Given the description of an element on the screen output the (x, y) to click on. 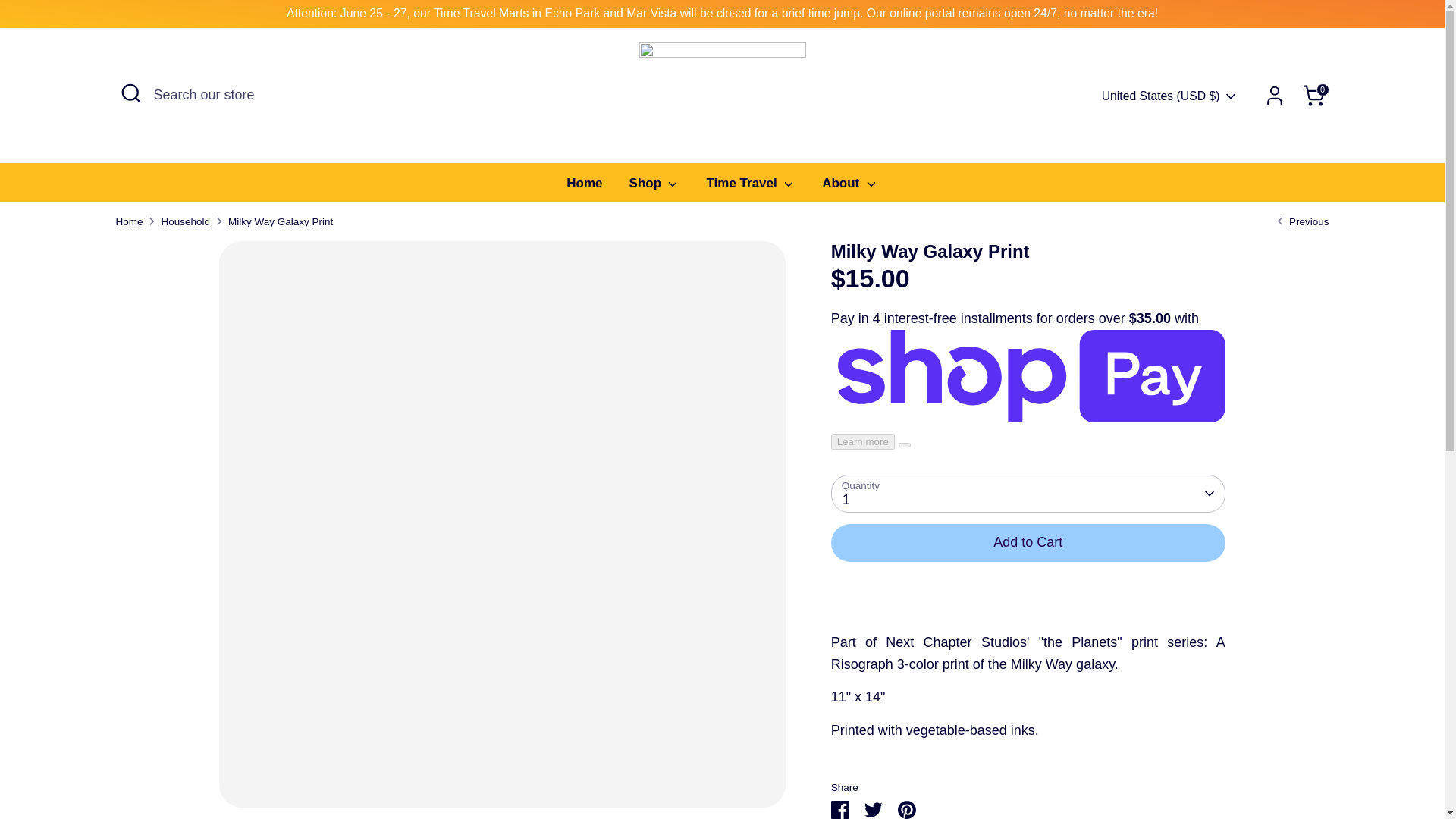
Go Bot Power Bank (1300, 221)
